Given the description of an element on the screen output the (x, y) to click on. 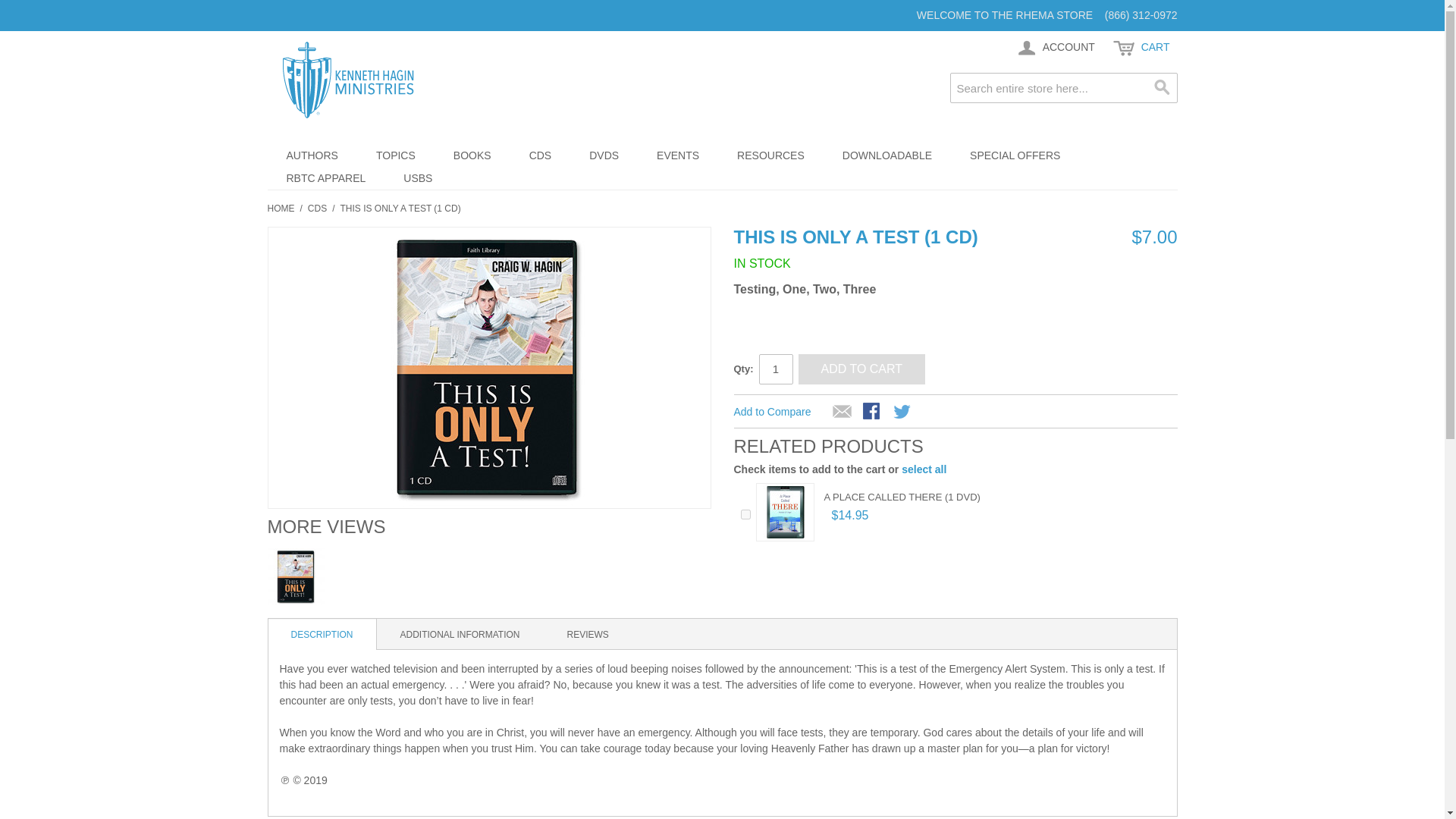
1 (775, 368)
Go to Home Page (280, 208)
CCH02S (488, 367)
Email to a Friend (841, 412)
316 (744, 514)
AUTHORS (311, 155)
BOOKS (472, 155)
Qty (775, 368)
CCH02S (295, 576)
CART (1141, 47)
